Given the description of an element on the screen output the (x, y) to click on. 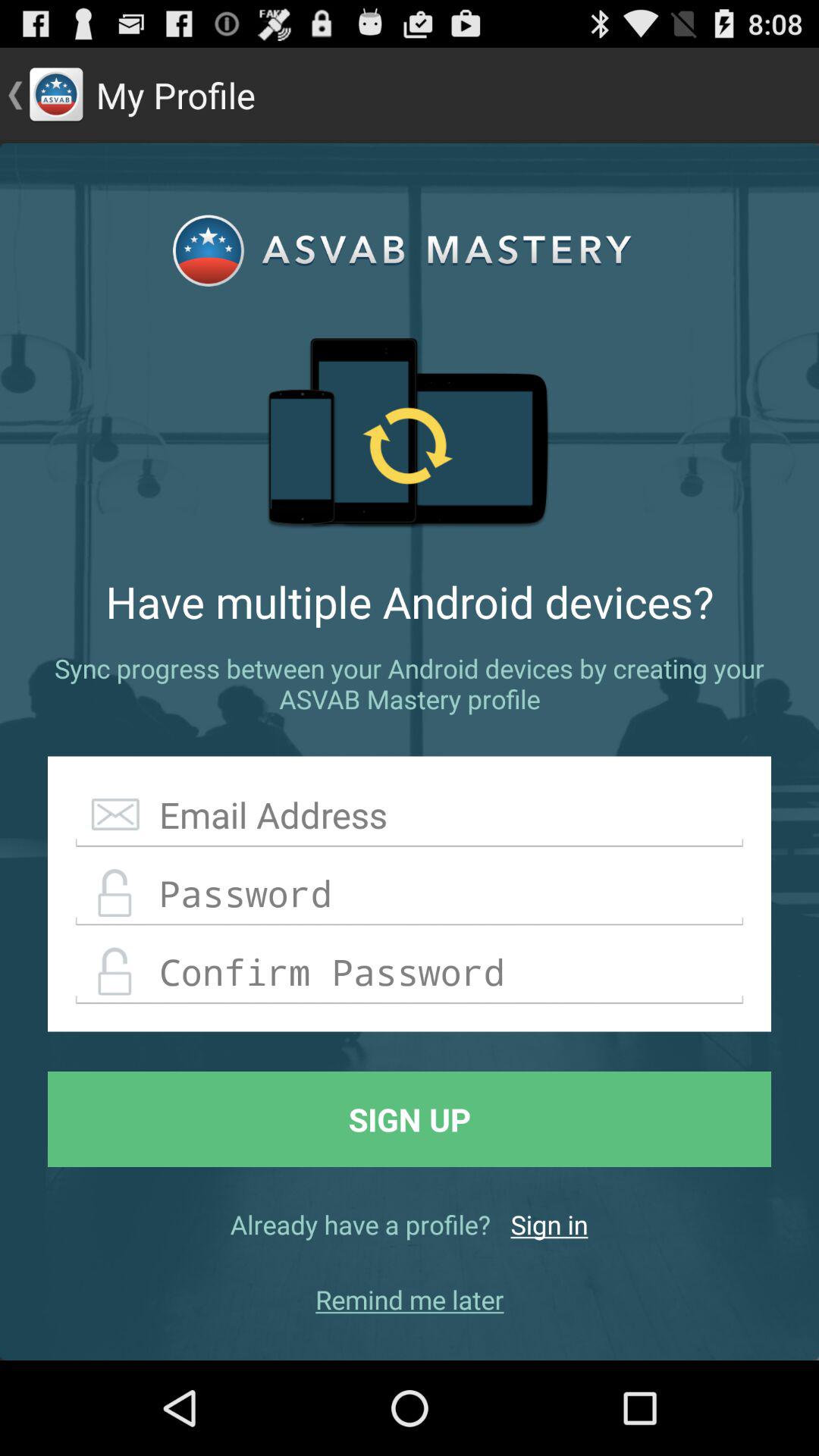
jump until sign up icon (409, 1119)
